Given the description of an element on the screen output the (x, y) to click on. 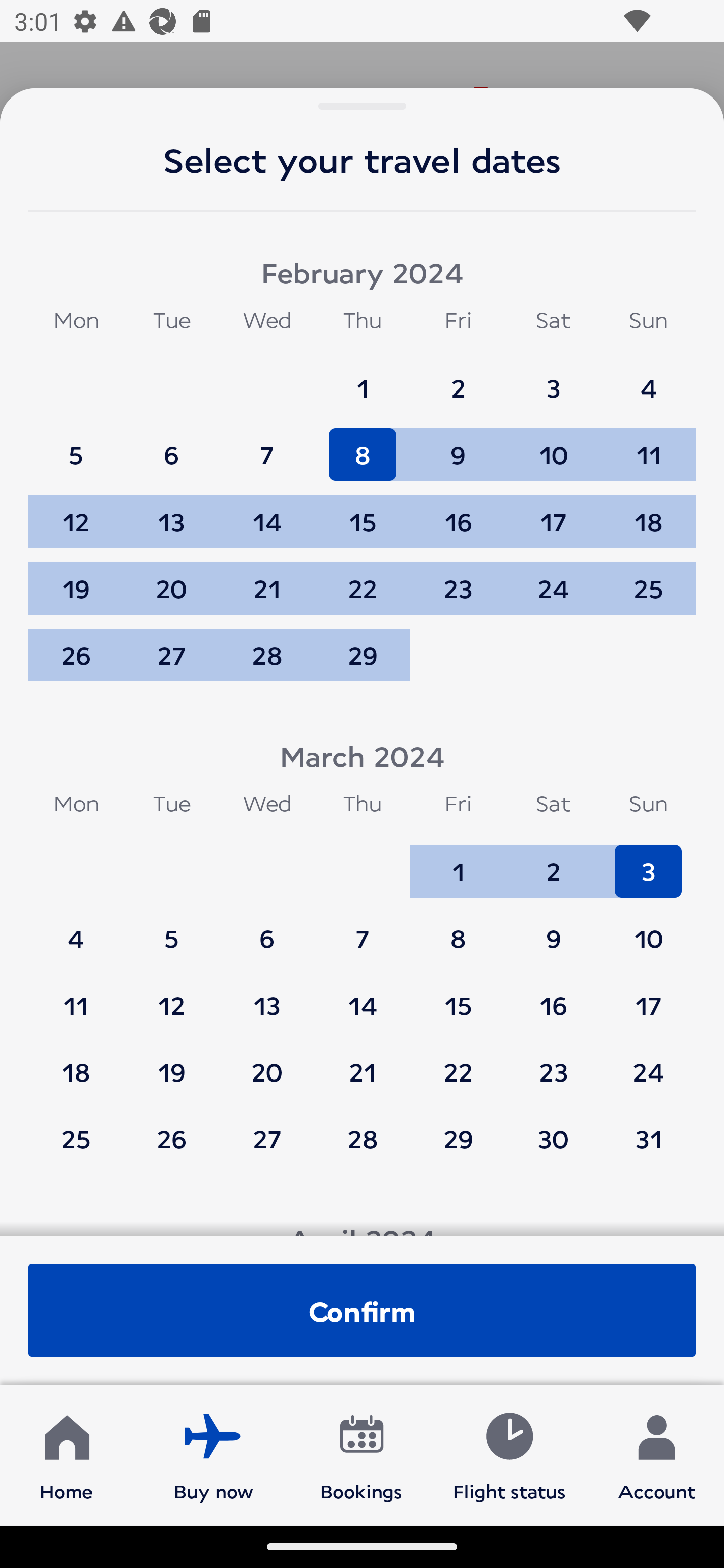
1 (362, 379)
2 (458, 379)
3 (553, 379)
4 (647, 379)
5 (75, 445)
6 (171, 445)
7 (266, 445)
8 (362, 445)
9 (458, 445)
10 (553, 445)
11 (647, 445)
12 (75, 512)
13 (171, 512)
14 (266, 512)
15 (362, 512)
16 (458, 512)
17 (553, 512)
18 (647, 512)
19 (75, 579)
20 (171, 579)
21 (266, 579)
22 (362, 579)
23 (458, 579)
24 (553, 579)
25 (647, 579)
26 (75, 655)
27 (171, 655)
28 (266, 655)
29 (362, 655)
1 (458, 862)
2 (553, 862)
3 (647, 862)
4 (75, 928)
5 (171, 928)
6 (266, 928)
7 (362, 928)
8 (458, 928)
9 (553, 928)
10 (647, 928)
11 (75, 996)
12 (171, 996)
13 (266, 996)
14 (362, 996)
15 (458, 996)
16 (553, 996)
17 (647, 996)
18 (75, 1063)
19 (171, 1063)
20 (266, 1063)
21 (362, 1063)
22 (458, 1063)
23 (553, 1063)
24 (647, 1063)
25 (75, 1138)
26 (171, 1138)
27 (266, 1138)
28 (362, 1138)
29 (458, 1138)
30 (553, 1138)
31 (647, 1138)
Confirm (361, 1309)
Home (66, 1454)
Bookings (361, 1454)
Flight status (509, 1454)
Account (657, 1454)
